Given the description of an element on the screen output the (x, y) to click on. 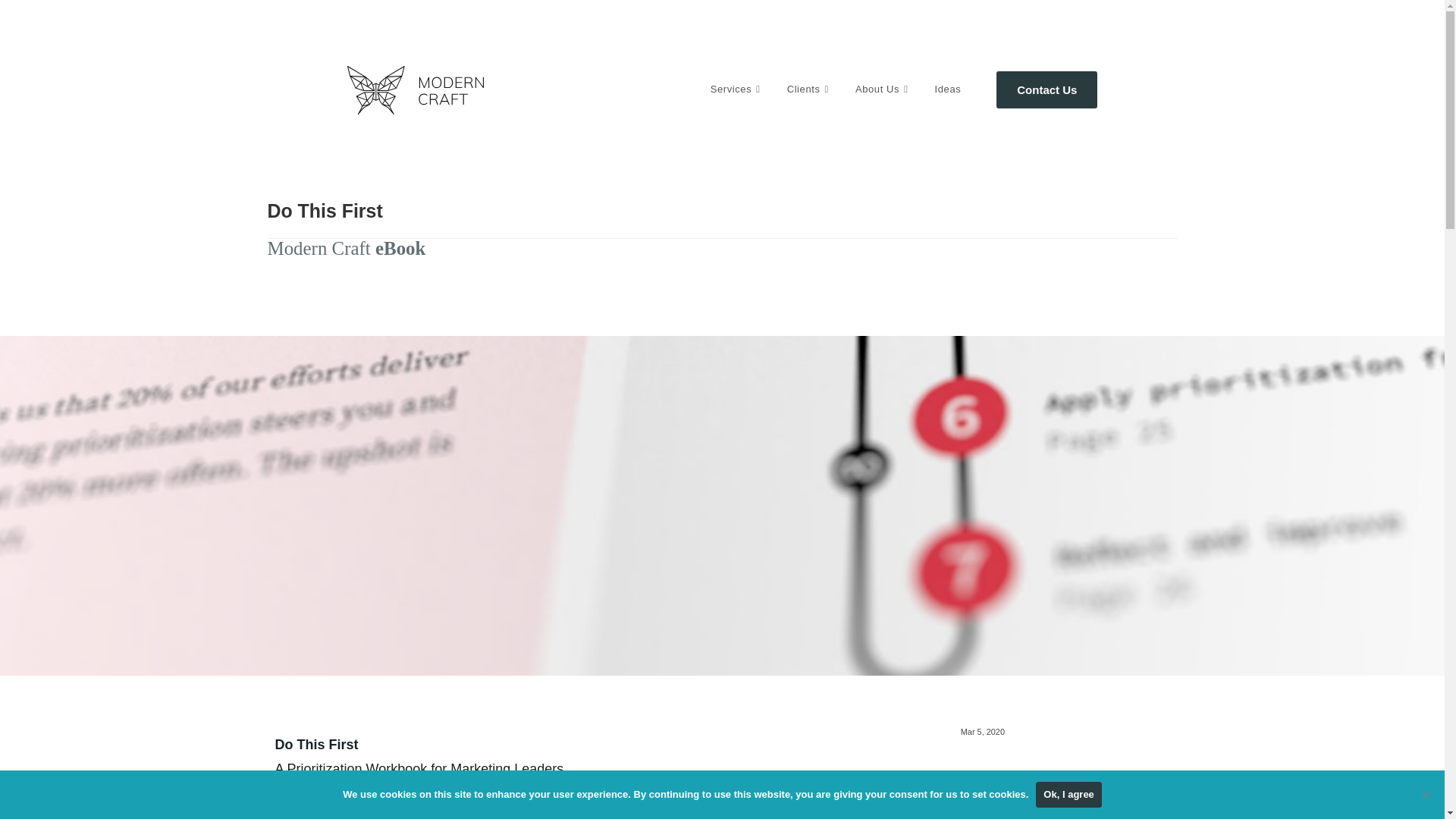
Services (737, 89)
Contact Us (1046, 89)
Services (737, 89)
modern craft logo (415, 90)
modern craft logo (415, 110)
Clients (810, 89)
Clients (810, 89)
About Us (883, 89)
About Us (883, 89)
Ideas (947, 89)
